Given the description of an element on the screen output the (x, y) to click on. 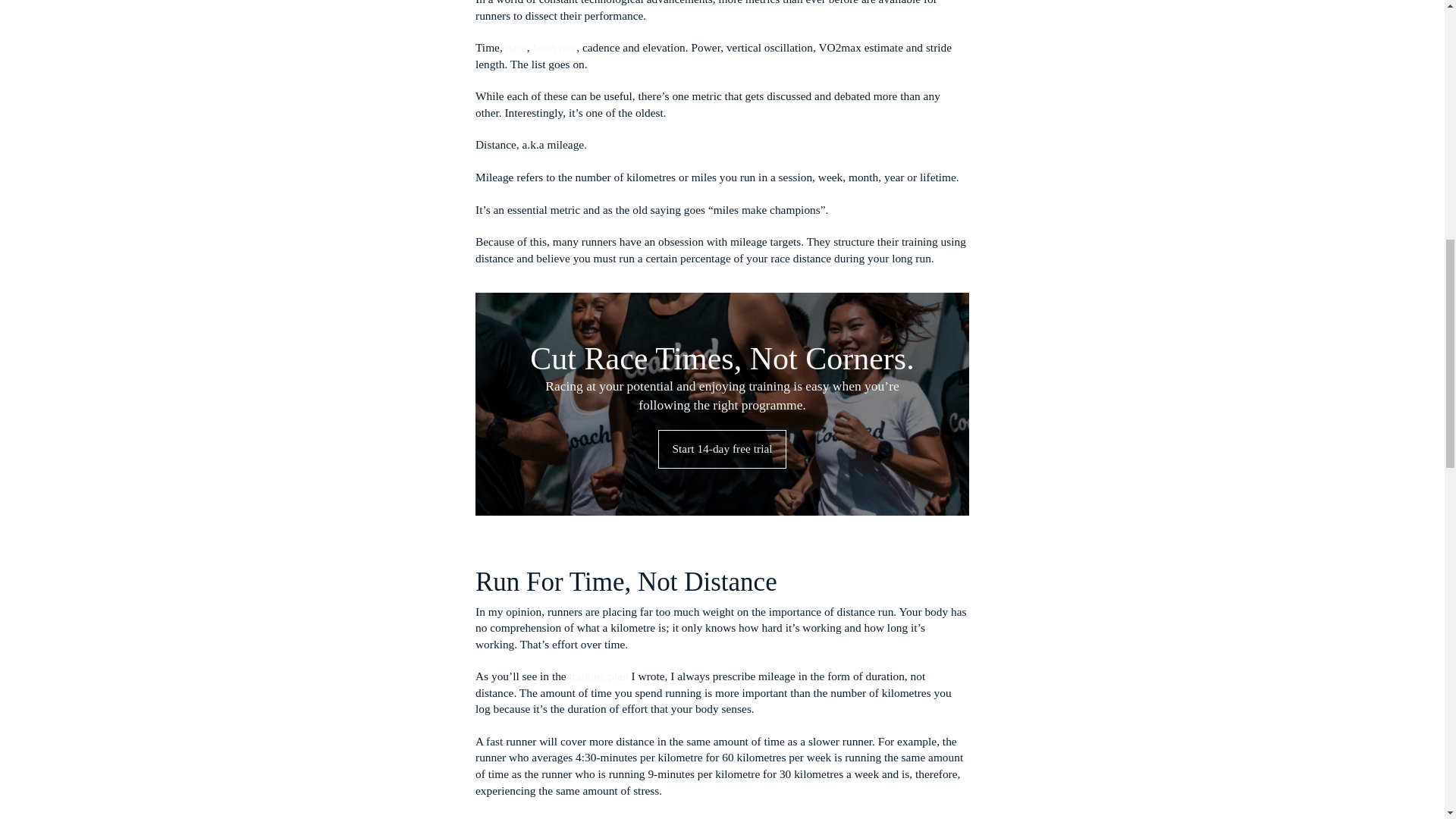
pace (737, 418)
The Straits Times Run 2019 (794, 257)
heart rate (792, 418)
The Straits Times (976, 233)
